Given the description of an element on the screen output the (x, y) to click on. 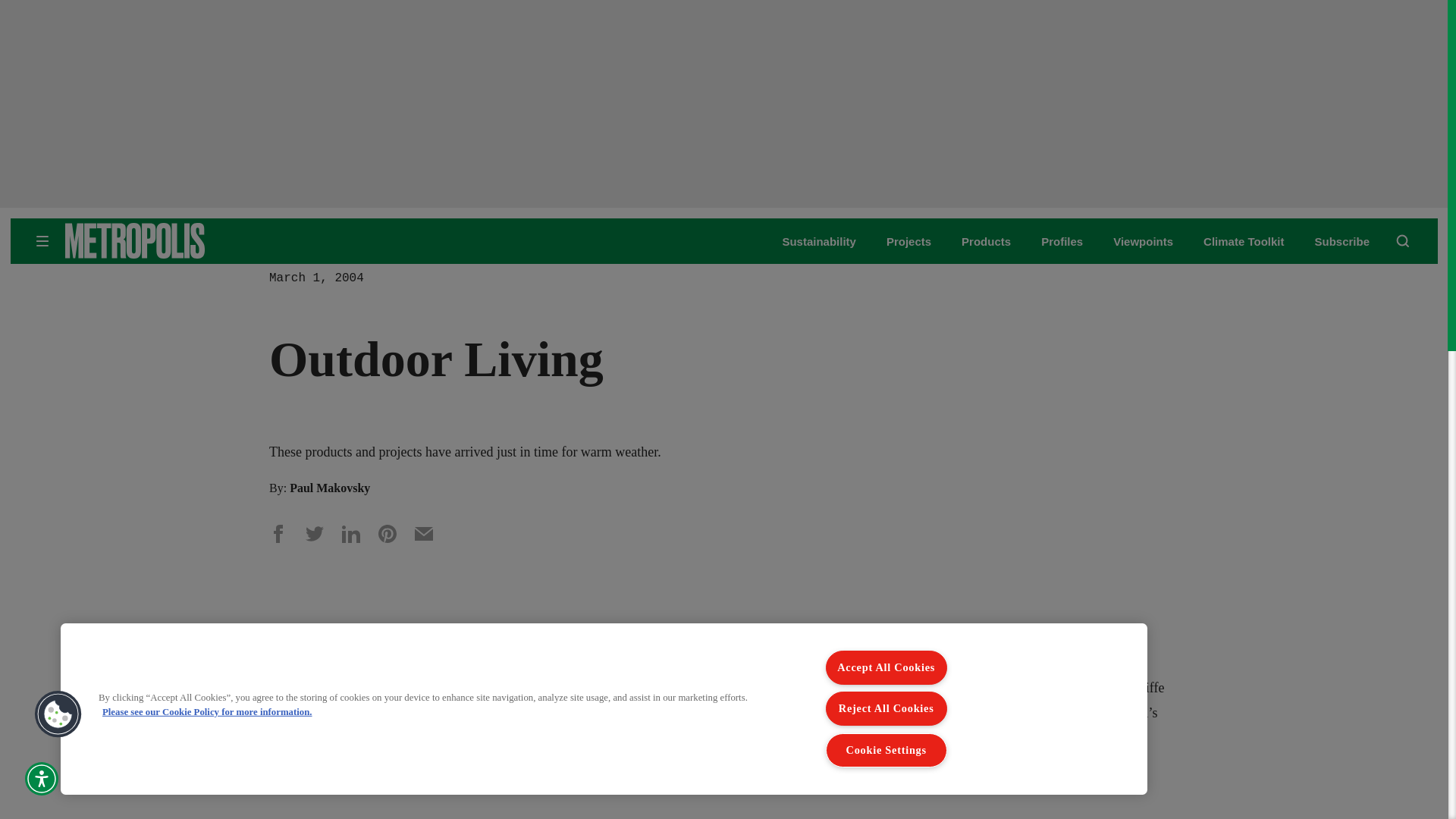
Profiles (1062, 241)
METROPOLIS (181, 240)
Climate Toolkit (1244, 241)
Cookies Button (57, 714)
Products (985, 241)
Projects (908, 241)
Accessibility Menu (41, 778)
Sustainability (818, 241)
Viewpoints (1143, 241)
Subscribe (1342, 241)
